Given the description of an element on the screen output the (x, y) to click on. 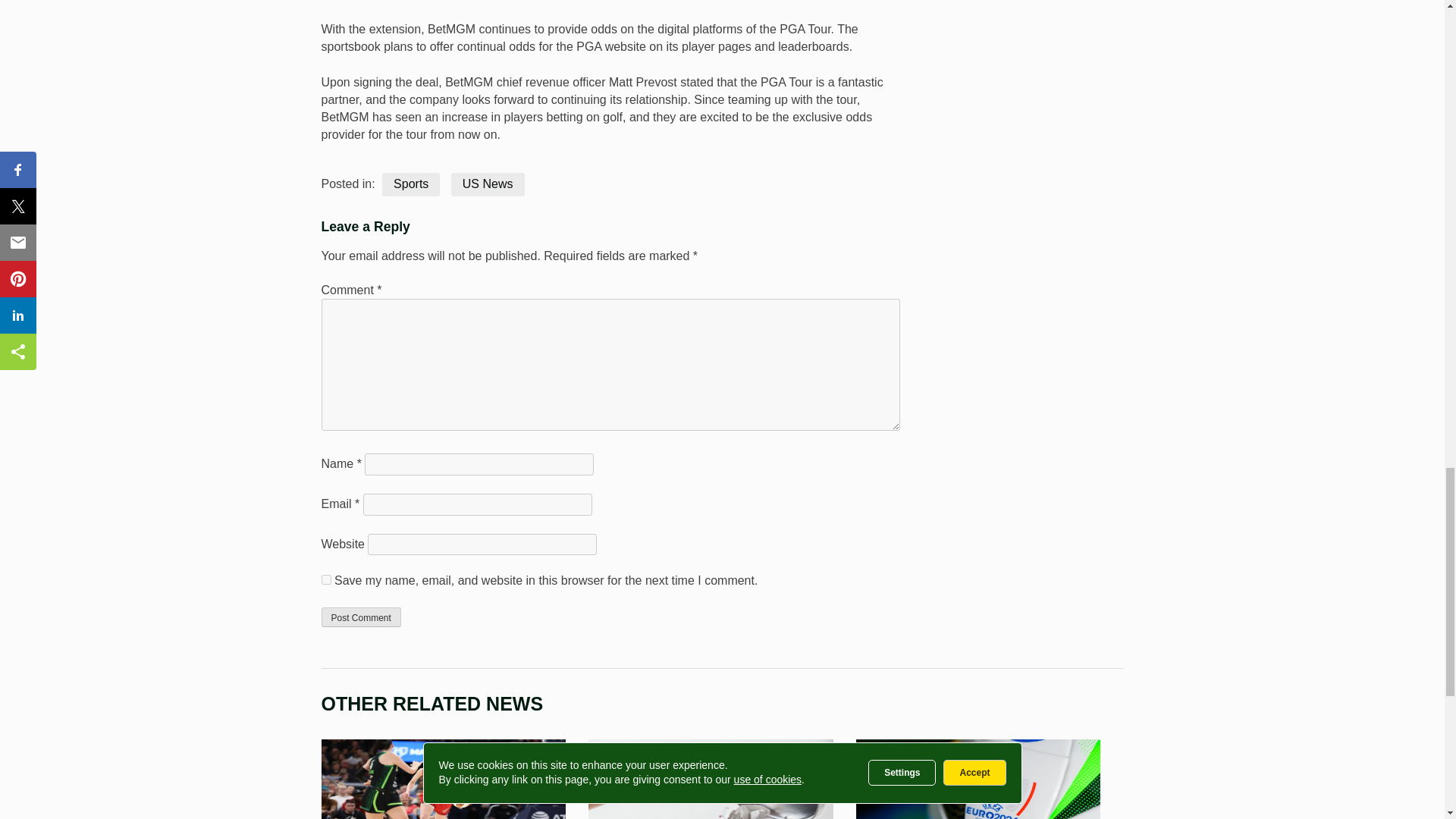
Post Comment (361, 617)
yes (326, 579)
Sports (410, 184)
US News (487, 184)
Post Comment (361, 617)
